Given the description of an element on the screen output the (x, y) to click on. 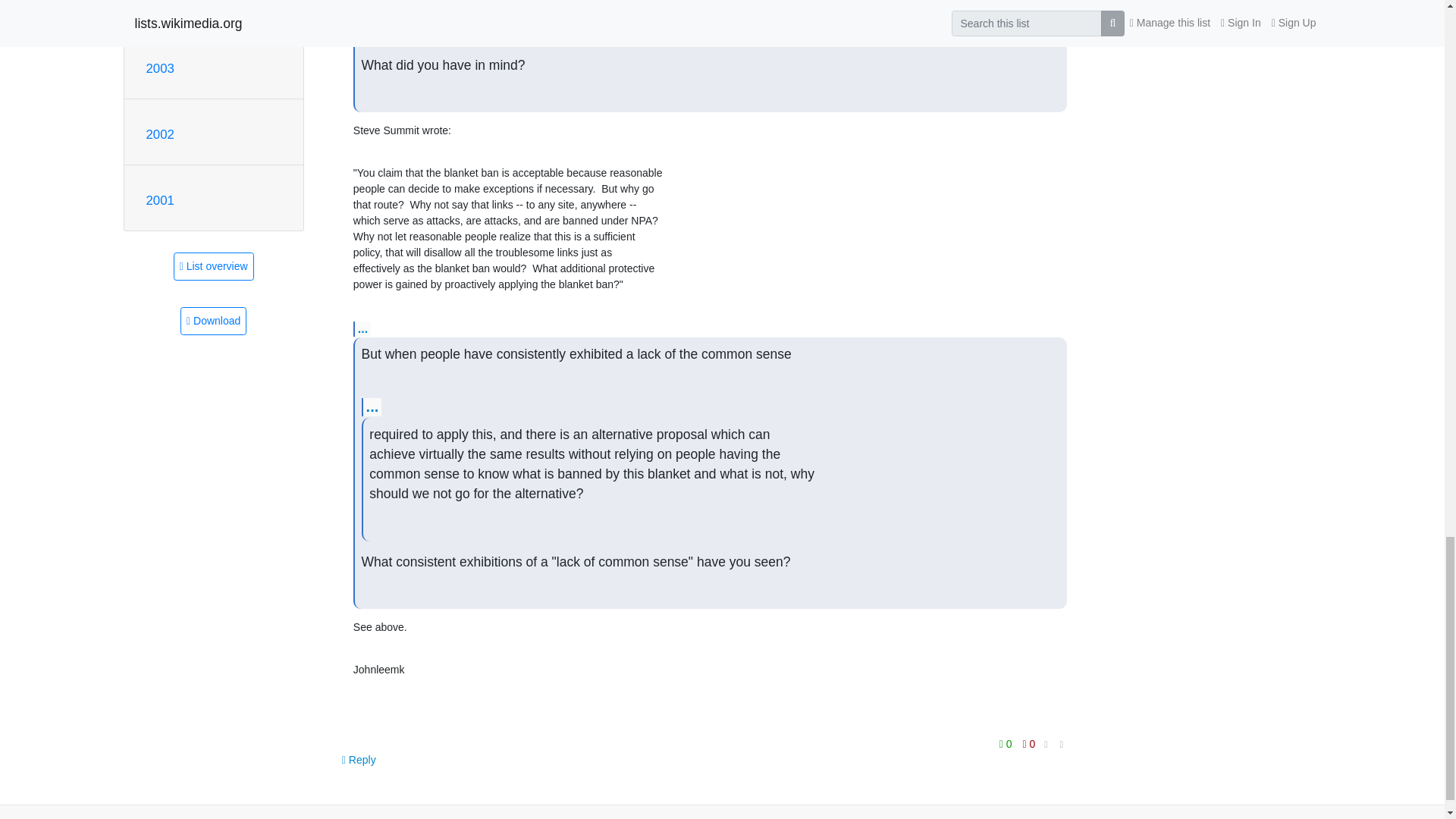
You must be logged-in to vote. (1007, 743)
Sign in to reply online (359, 759)
Permalink for this message (1061, 744)
You must be logged-in to vote. (1029, 743)
Display in fixed font (1046, 744)
This message in gzipped mbox format (213, 320)
